Given the description of an element on the screen output the (x, y) to click on. 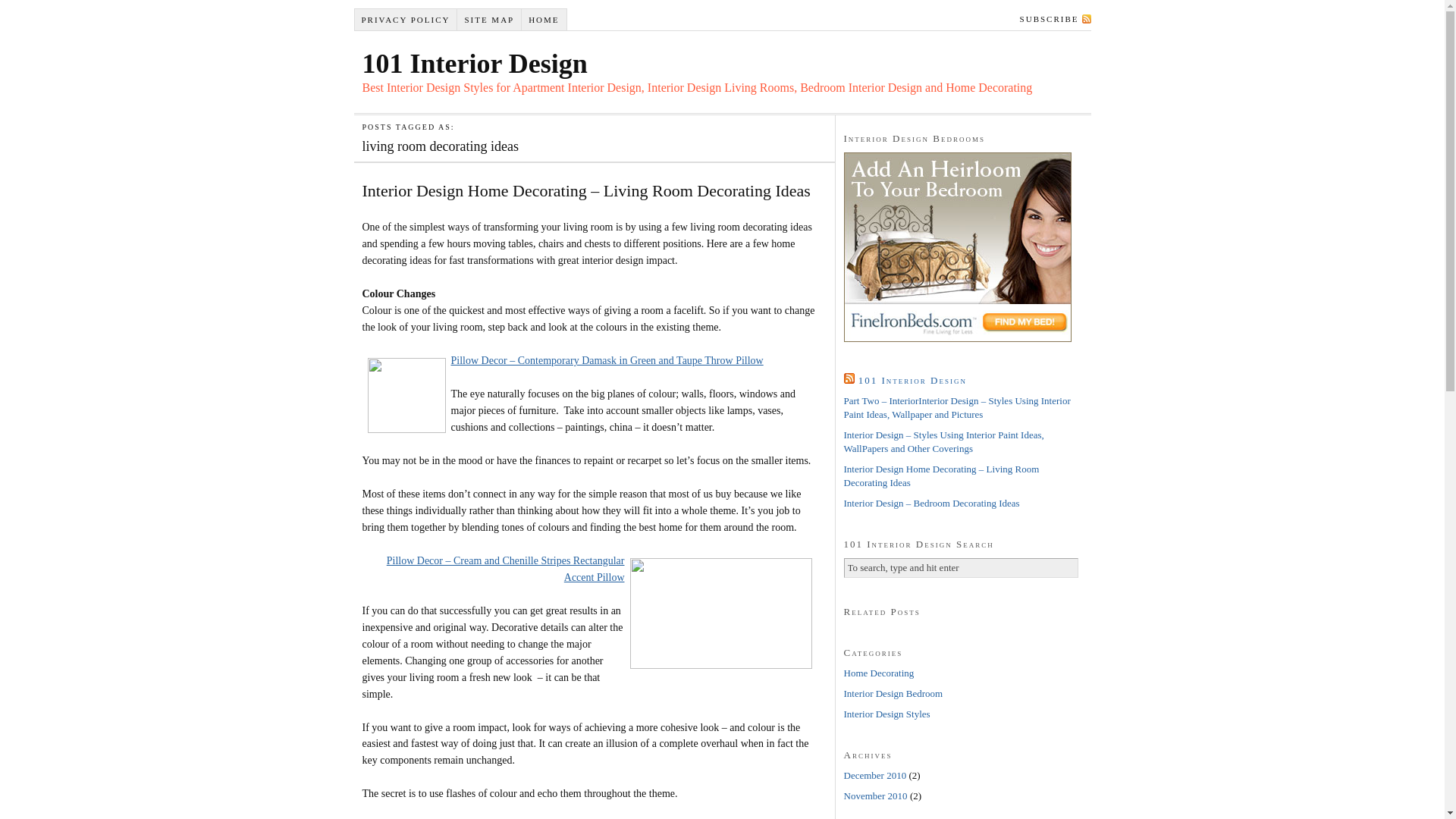
HOME Element type: text (543, 19)
101 Interior Design Element type: text (912, 379)
November 2010 Element type: text (874, 795)
December 2010 Element type: text (874, 775)
SUBSCRIBE Element type: text (1052, 18)
Interior Design Styles Element type: text (886, 713)
PRIVACY POLICY Element type: text (406, 19)
Home Decorating Element type: text (878, 672)
SITE MAP Element type: text (489, 19)
101 Interior Design Element type: text (474, 63)
Interior Design Bedroom Element type: text (892, 693)
